Given the description of an element on the screen output the (x, y) to click on. 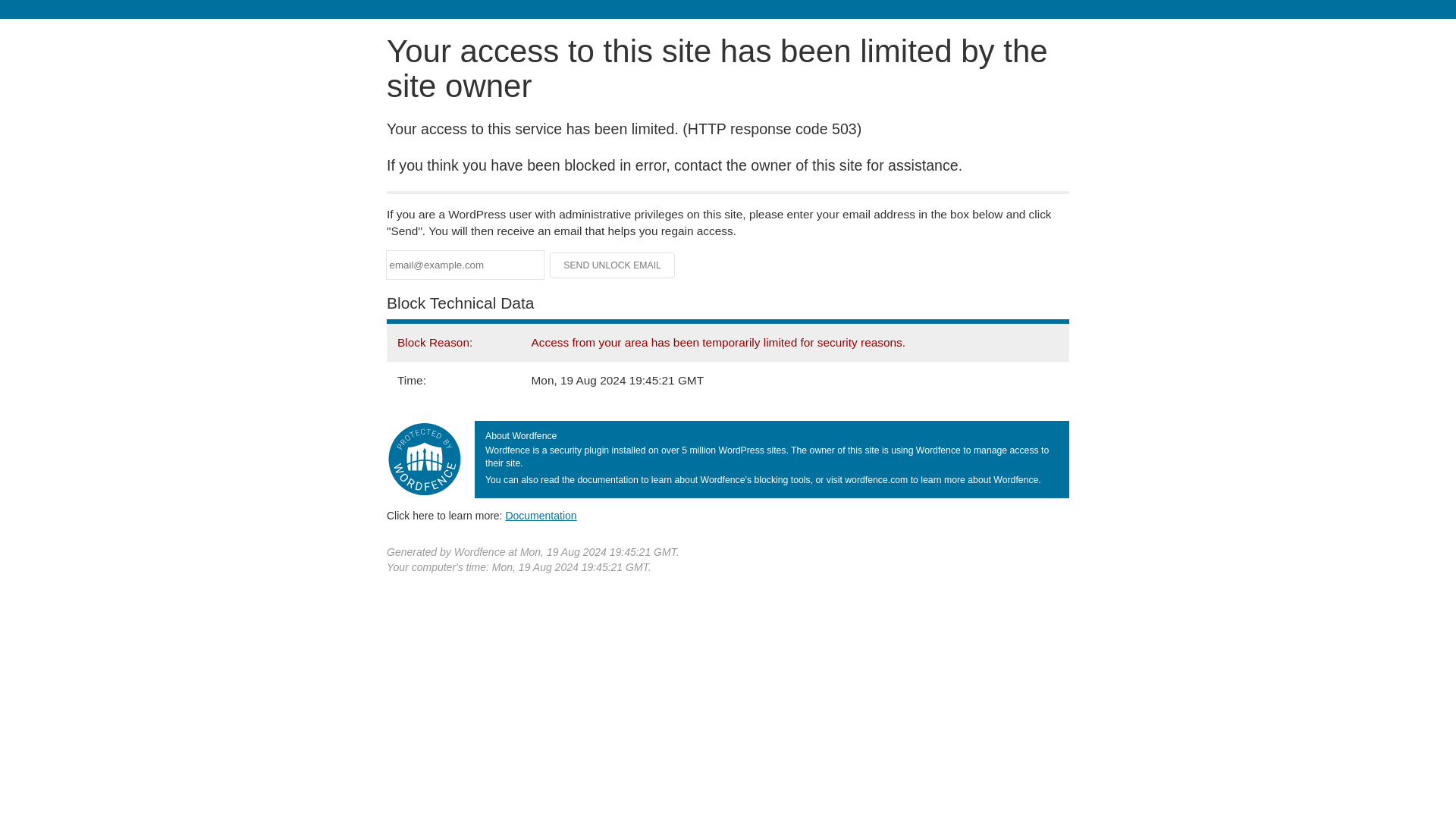
Send Unlock Email (612, 265)
Documentation (540, 515)
Send Unlock Email (612, 265)
